Given the description of an element on the screen output the (x, y) to click on. 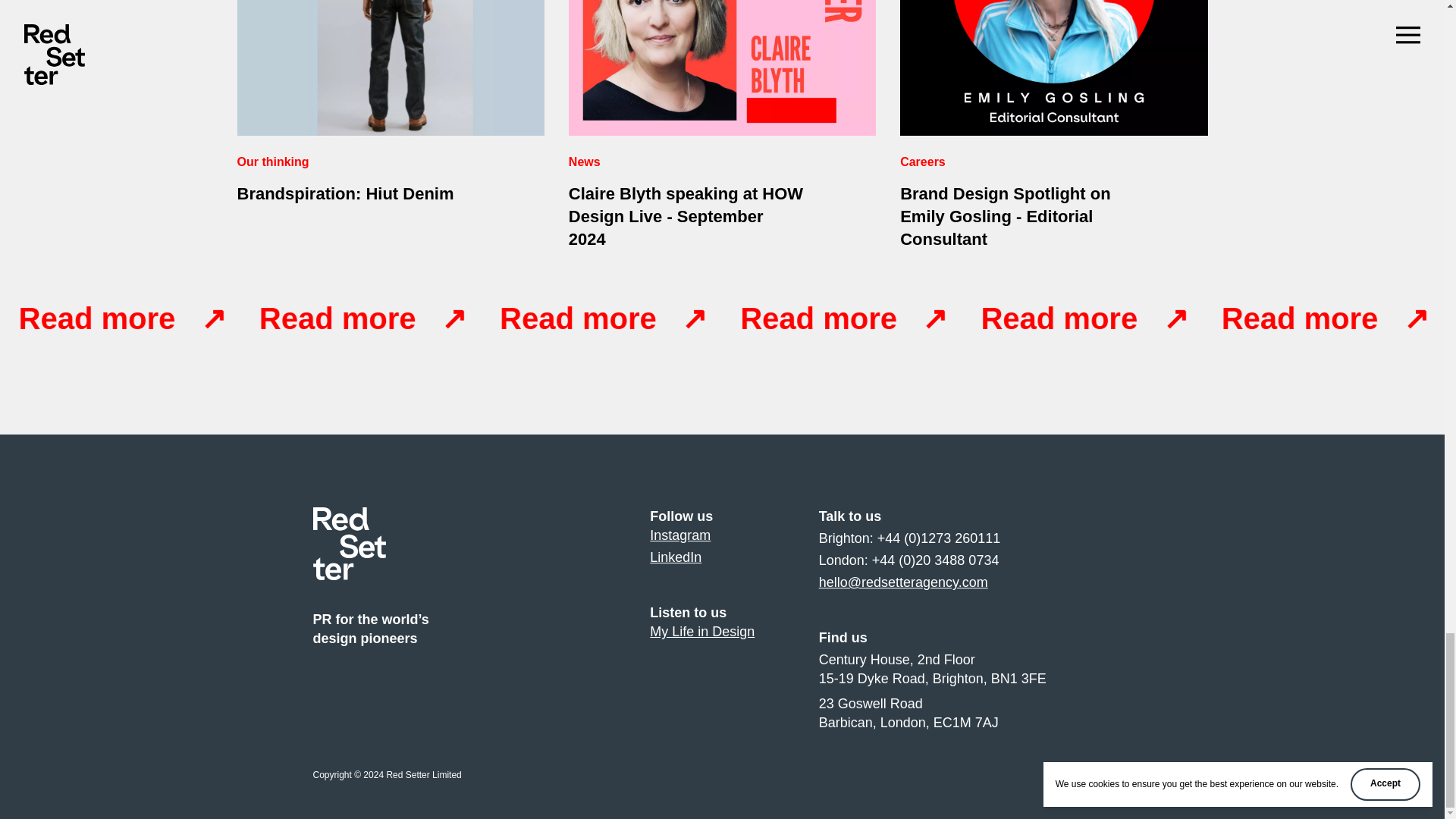
Instagram (389, 125)
LinkedIn (679, 534)
My Life in Design (675, 557)
Read article Brandspiration: Hiut Denim (701, 631)
